Given the description of an element on the screen output the (x, y) to click on. 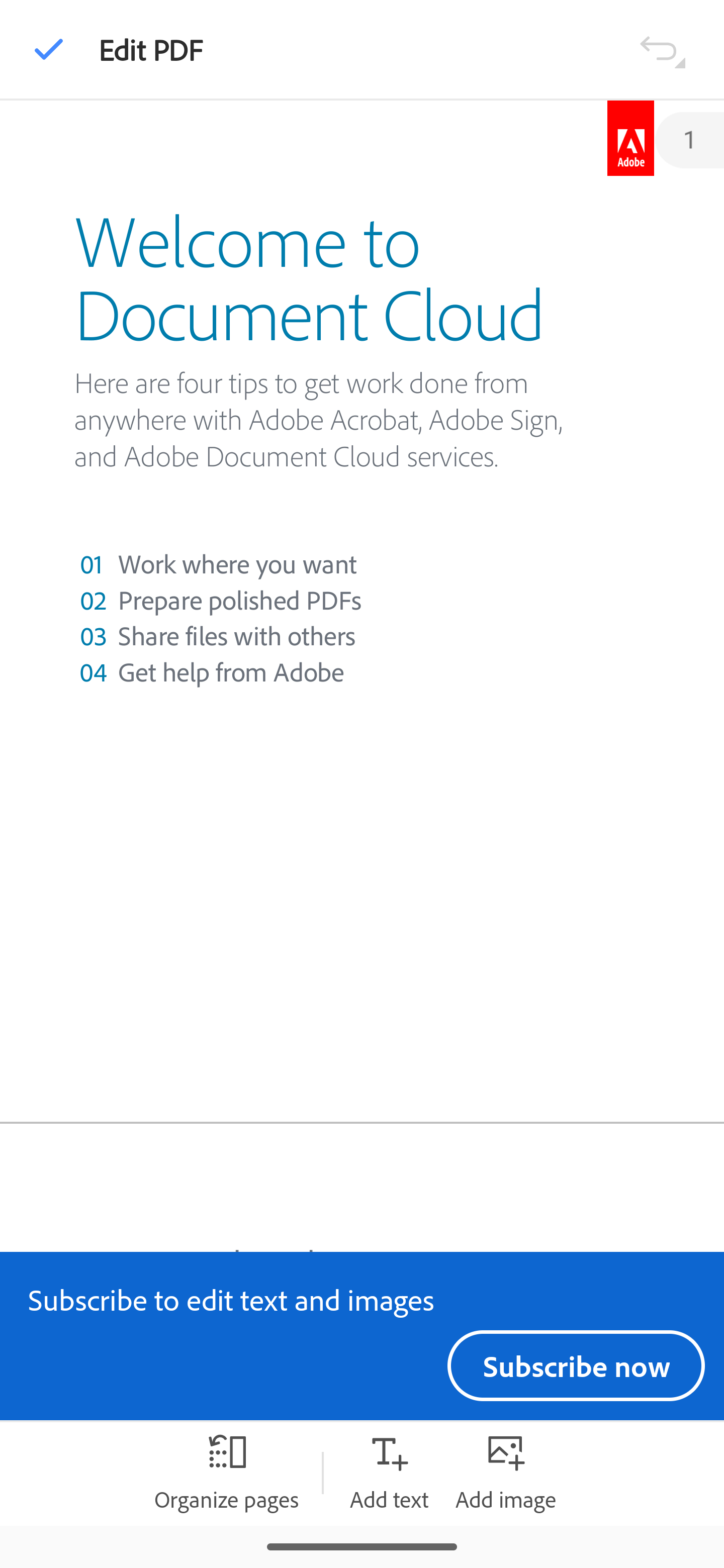
Done (49, 49)
Undo Disabled (662, 48)
Subscribe now (575, 1365)
Organize pages (226, 1472)
Organize pages Add text (389, 1472)
Organize pages Add image (505, 1472)
